Given the description of an element on the screen output the (x, y) to click on. 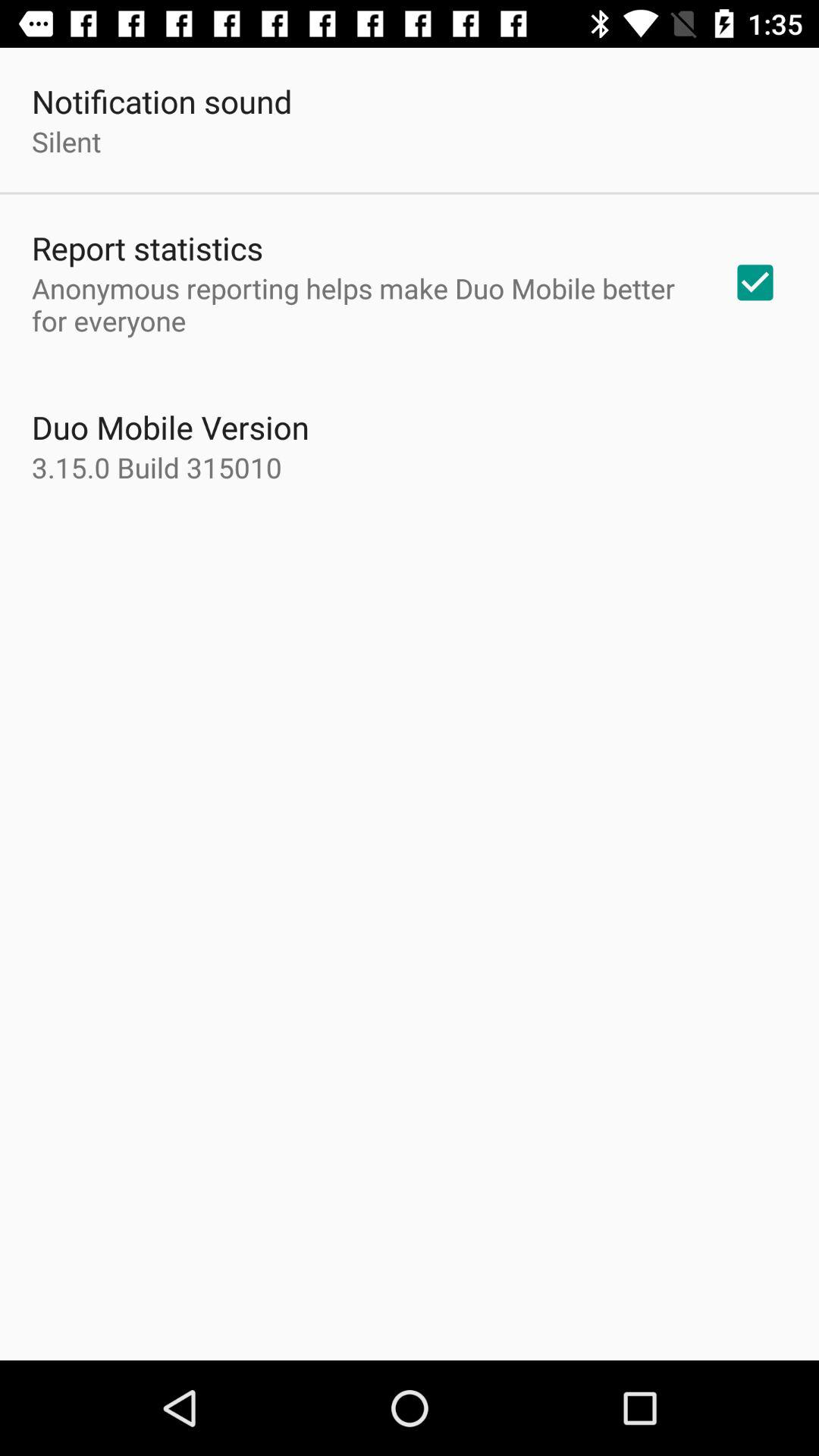
jump until report statistics icon (147, 247)
